Given the description of an element on the screen output the (x, y) to click on. 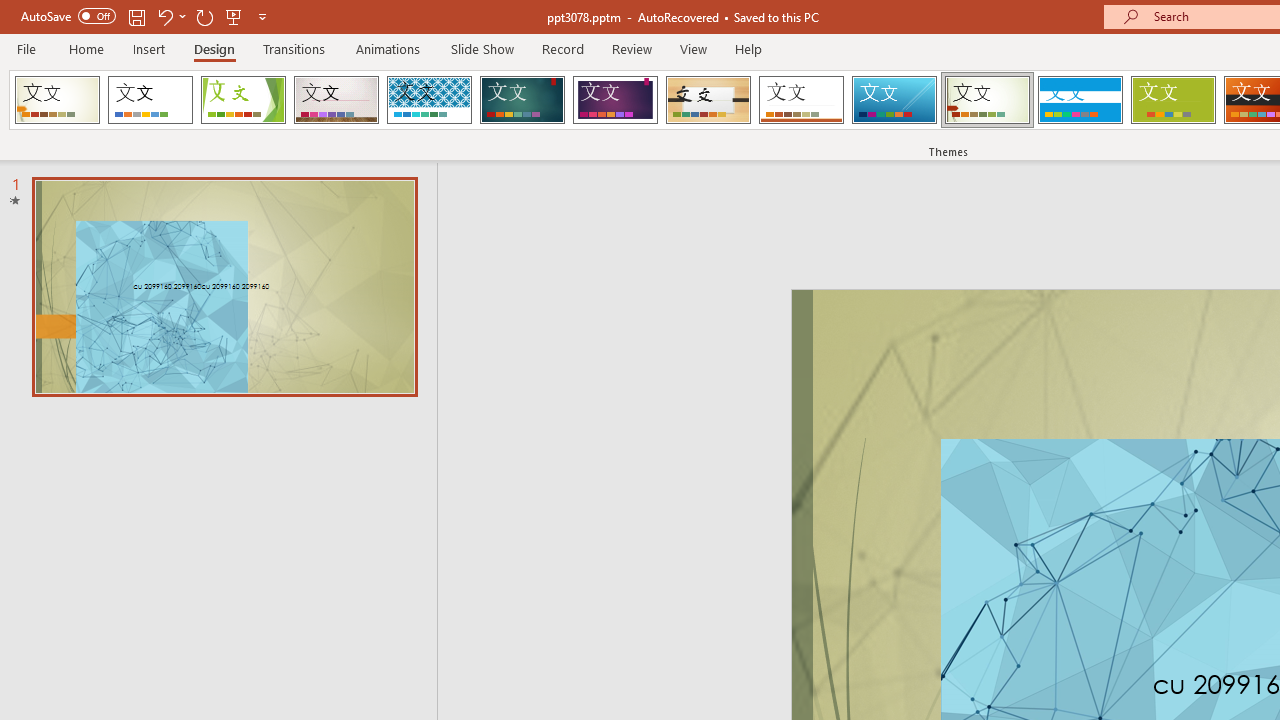
Ion Loading Preview... (522, 100)
Integral Loading Preview... (429, 100)
Retrospect Loading Preview... (801, 100)
Basis Loading Preview... (1172, 100)
Facet (243, 100)
Slice Loading Preview... (893, 100)
